Given the description of an element on the screen output the (x, y) to click on. 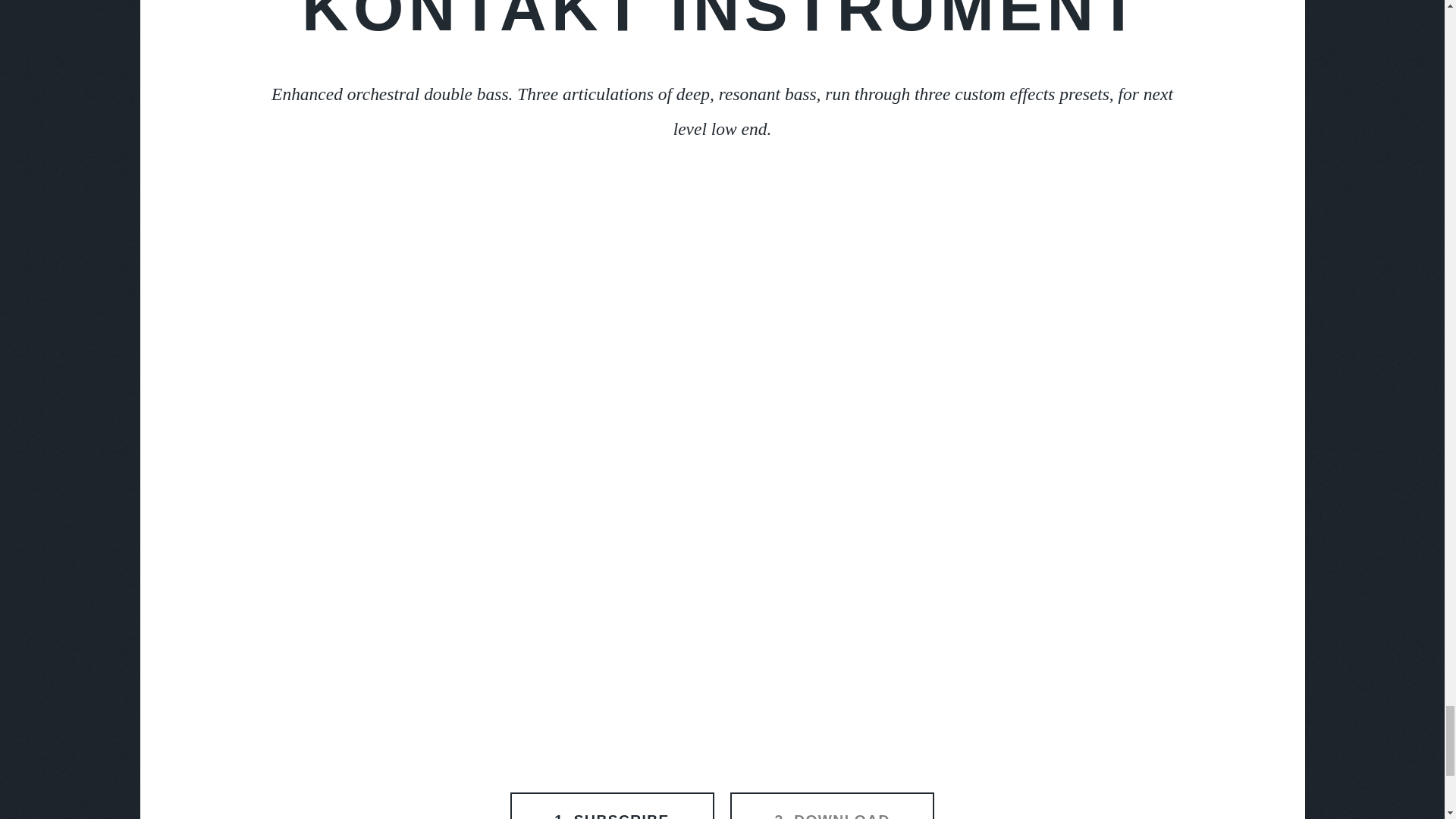
1. SUBSCRIBE (612, 805)
2. DOWNLOAD (832, 805)
